Given the description of an element on the screen output the (x, y) to click on. 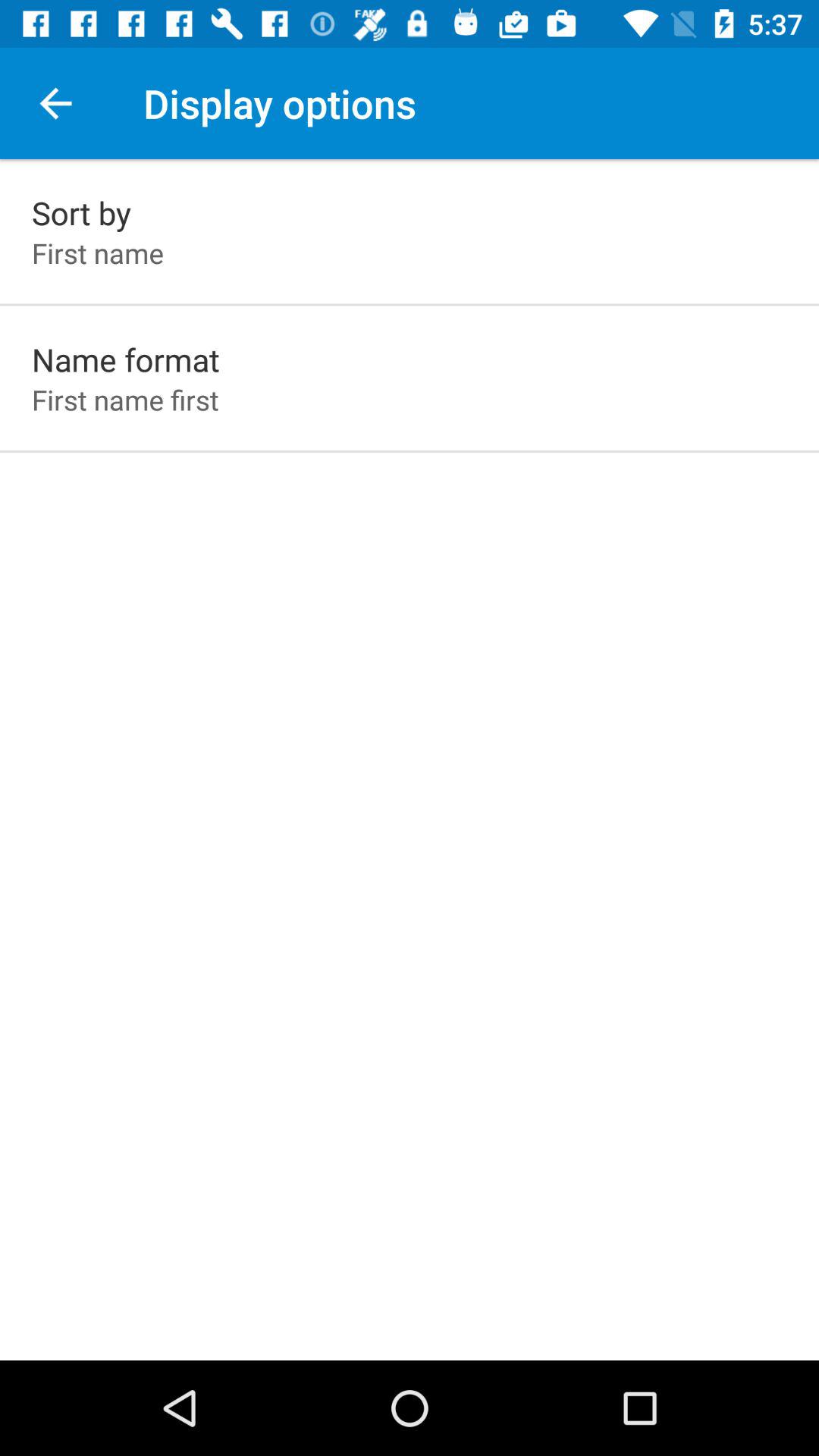
choose icon next to display options item (55, 103)
